Given the description of an element on the screen output the (x, y) to click on. 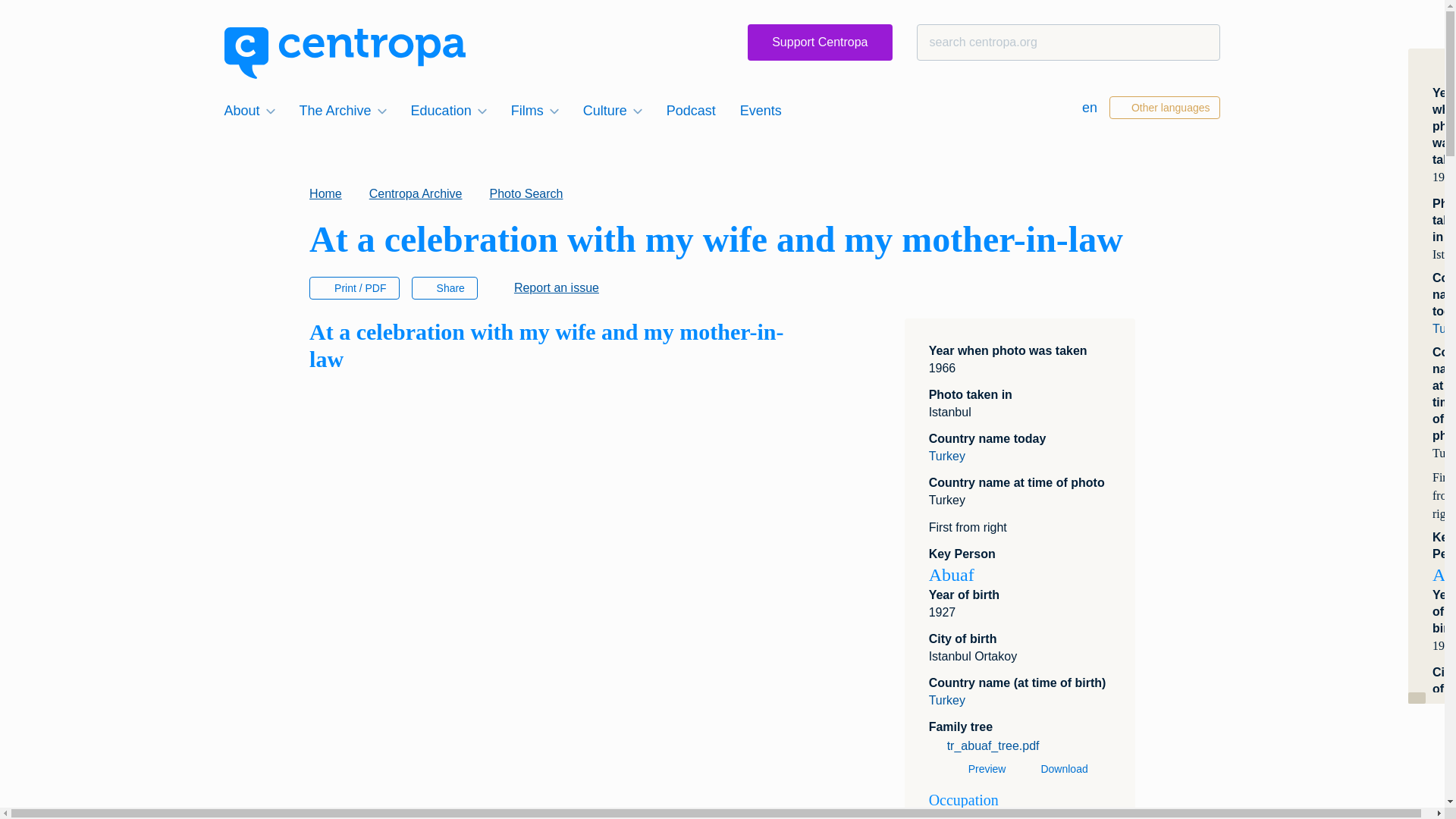
Education (448, 110)
Support Centropa (820, 42)
About (249, 110)
Podcast (691, 110)
Culture (611, 110)
Films (534, 110)
Events (760, 110)
The Archive (343, 110)
Search (40, 18)
